Given the description of an element on the screen output the (x, y) to click on. 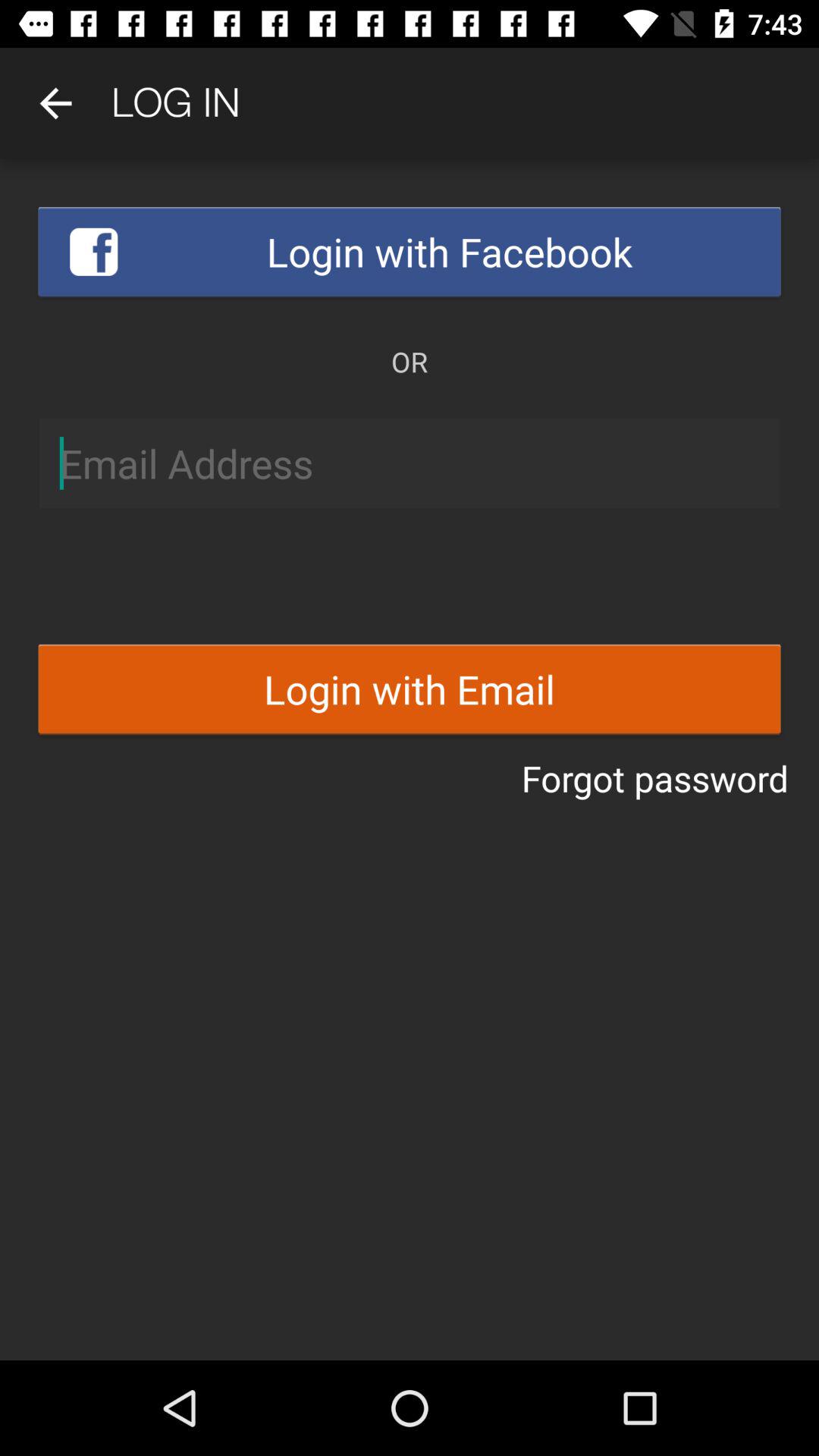
write email address (409, 463)
